Given the description of an element on the screen output the (x, y) to click on. 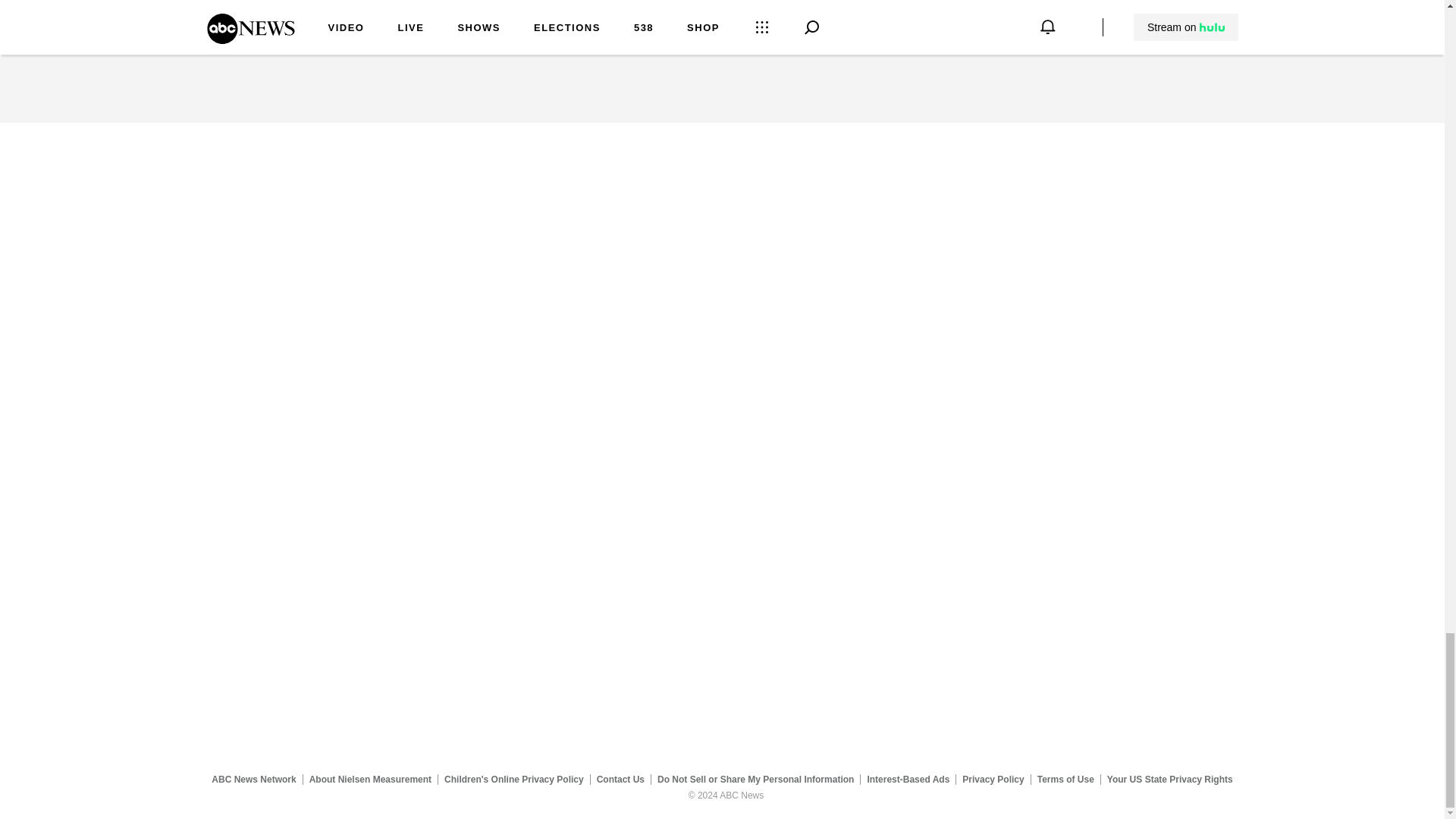
Interest-Based Ads (908, 778)
Privacy Policy (993, 778)
Terms of Use (1065, 778)
Children's Online Privacy Policy (514, 778)
Contact Us (620, 778)
ABC News Network (253, 778)
Do Not Sell or Share My Personal Information (755, 778)
About Nielsen Measurement (370, 778)
Your US State Privacy Rights (1169, 778)
